Given the description of an element on the screen output the (x, y) to click on. 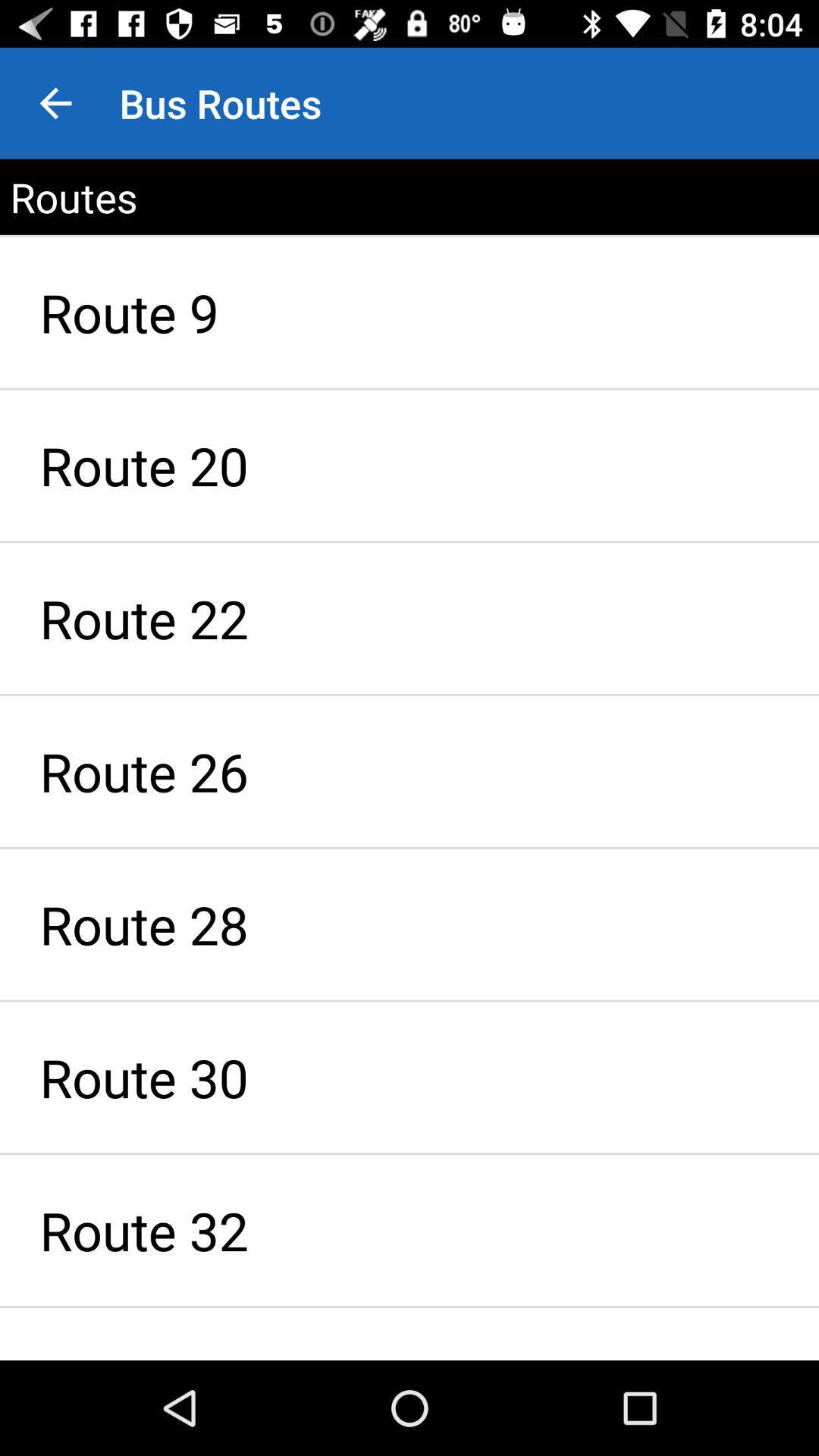
scroll to the route 32 (409, 1230)
